Given the description of an element on the screen output the (x, y) to click on. 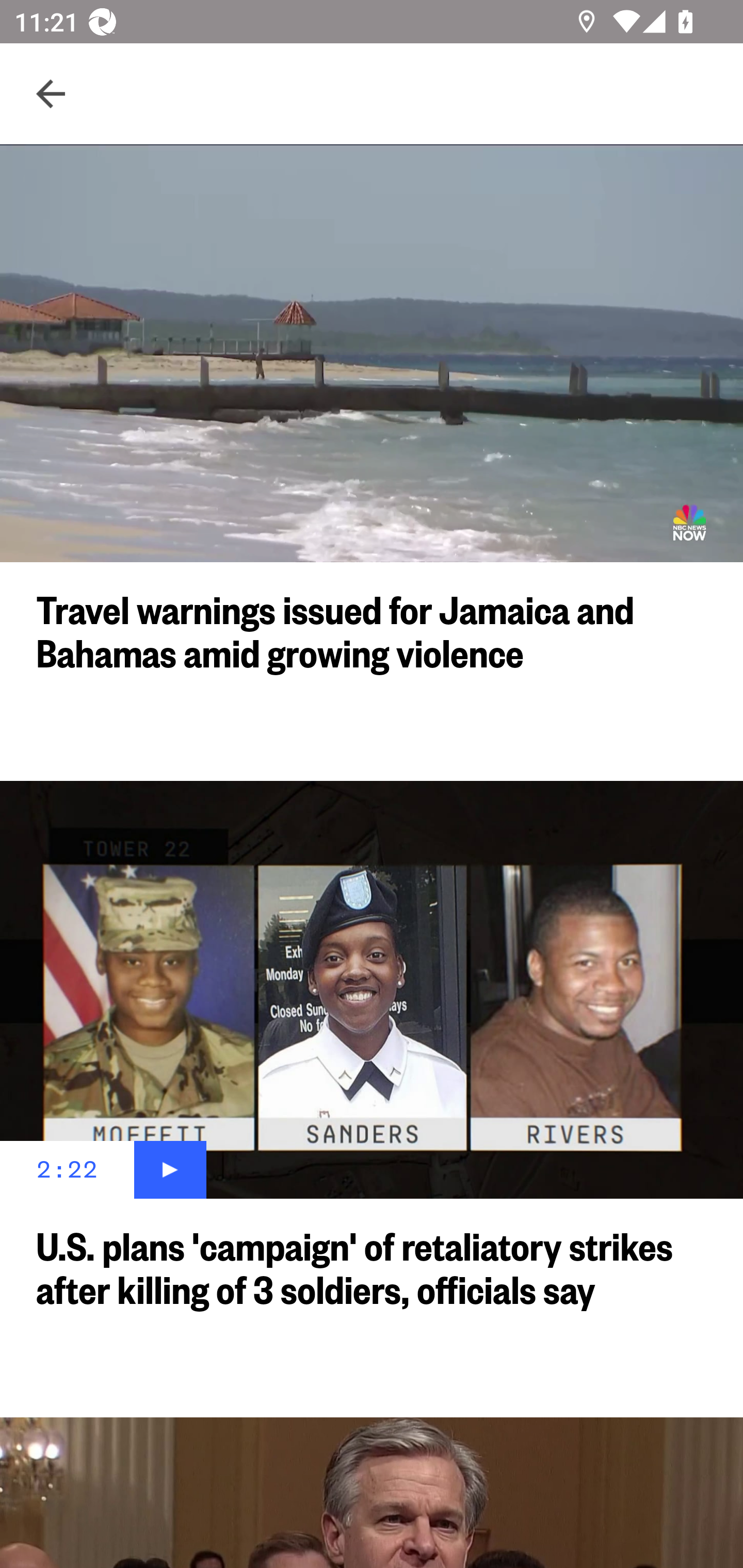
Navigate up (50, 93)
